Given the description of an element on the screen output the (x, y) to click on. 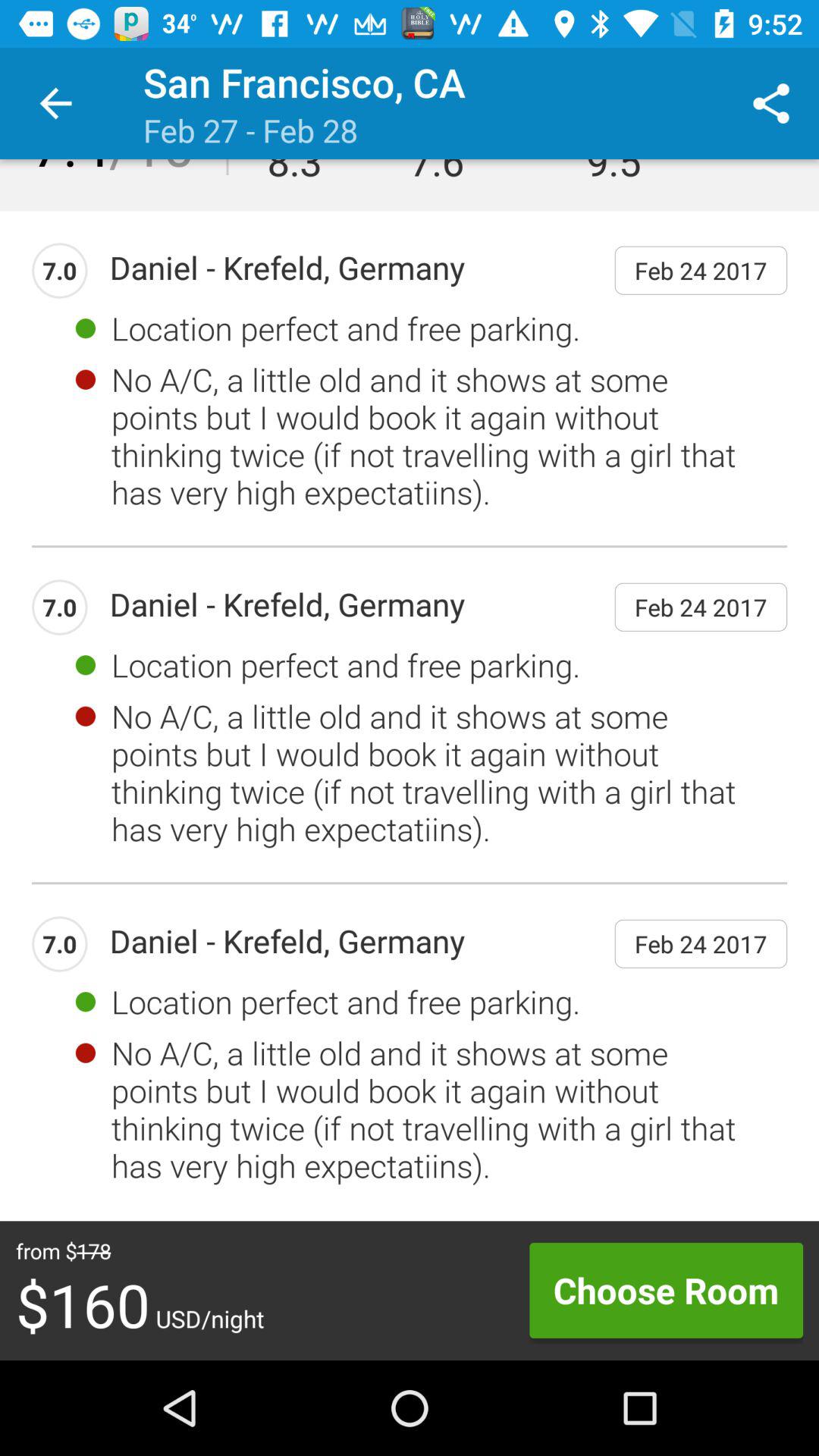
tap the item to the left of the san francisco, ca (55, 103)
